Given the description of an element on the screen output the (x, y) to click on. 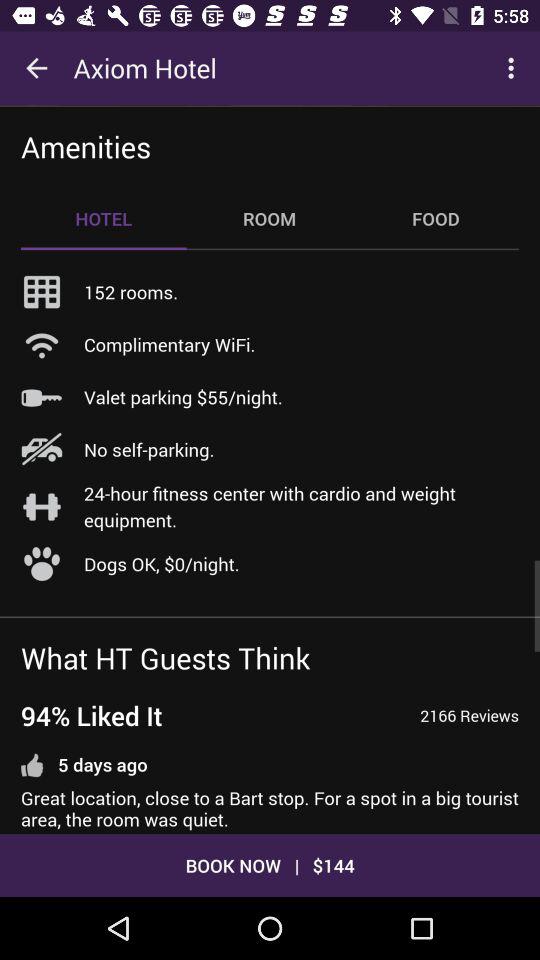
turn on item below the what ht guests (91, 715)
